Given the description of an element on the screen output the (x, y) to click on. 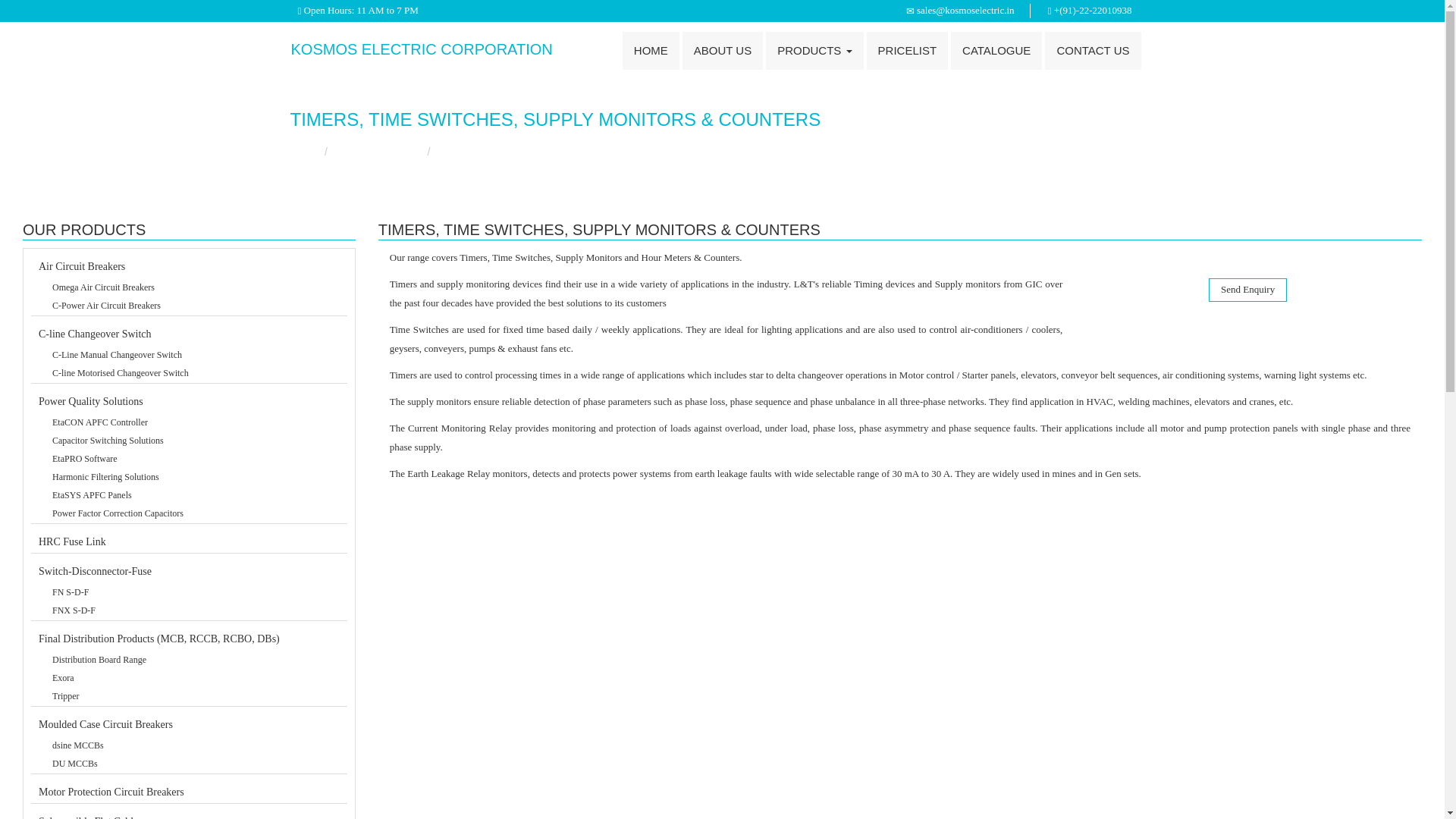
CONTACT US (1092, 50)
Capacitor Switching Solutions (196, 440)
EtaSYS APFC Panels (196, 494)
Harmonic Filtering Solutions (196, 476)
Omega Air Circuit Breakers (196, 287)
CATALOGUE (996, 50)
C-line Motorised Changeover Switch (196, 372)
Home (303, 151)
KOSMOS ELECTRIC CORPORATION (422, 48)
Power Factor Correction Capacitors (196, 513)
